Given the description of an element on the screen output the (x, y) to click on. 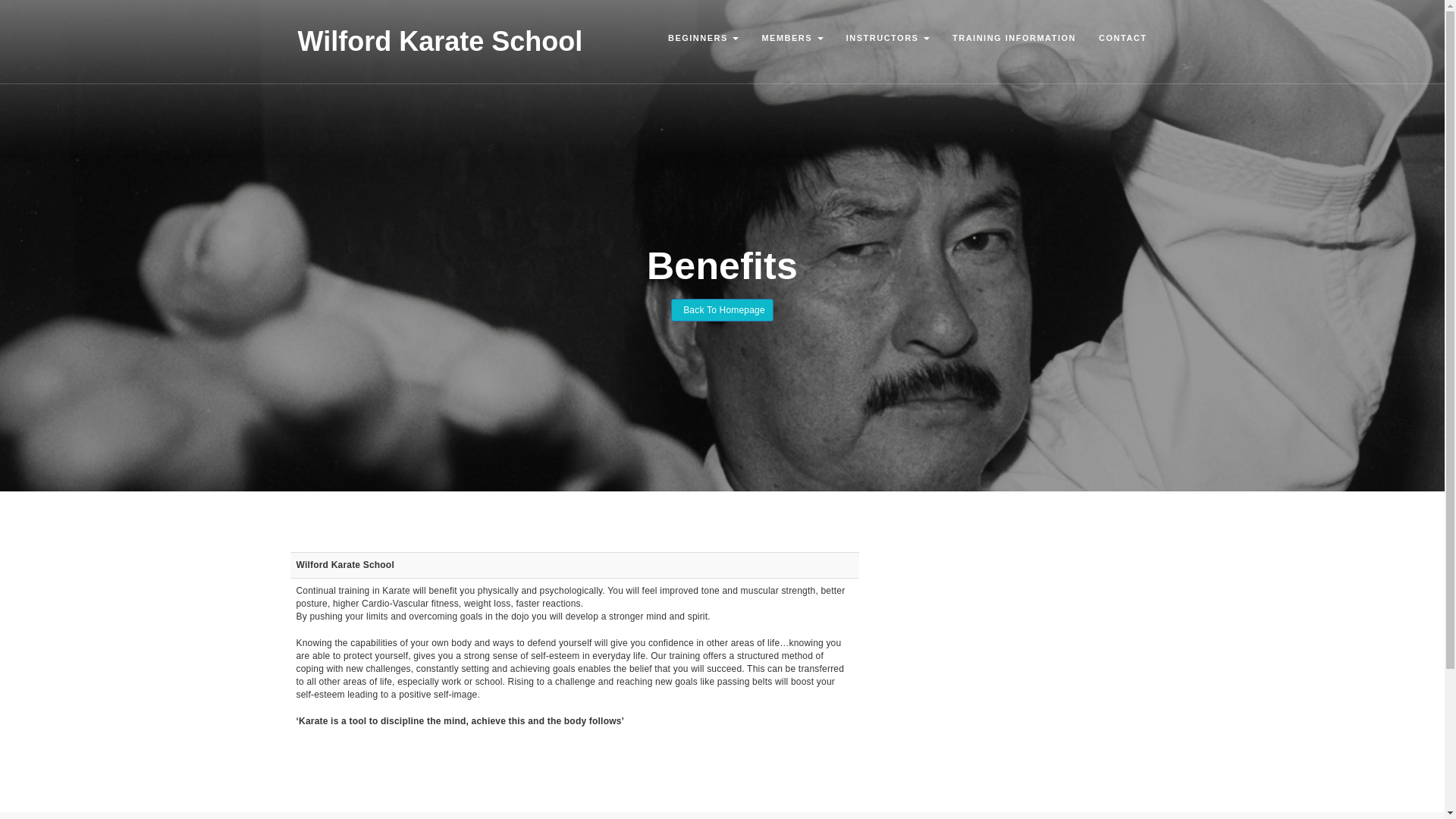
Training Information (1013, 37)
INSTRUCTORS (887, 37)
Instructors (887, 37)
MEMBERS (791, 37)
Contact (1122, 37)
Back To Homepage (722, 309)
TRAINING INFORMATION (1013, 37)
CONTACT (1122, 37)
Members (791, 37)
Wilford Karate School (439, 41)
